Given the description of an element on the screen output the (x, y) to click on. 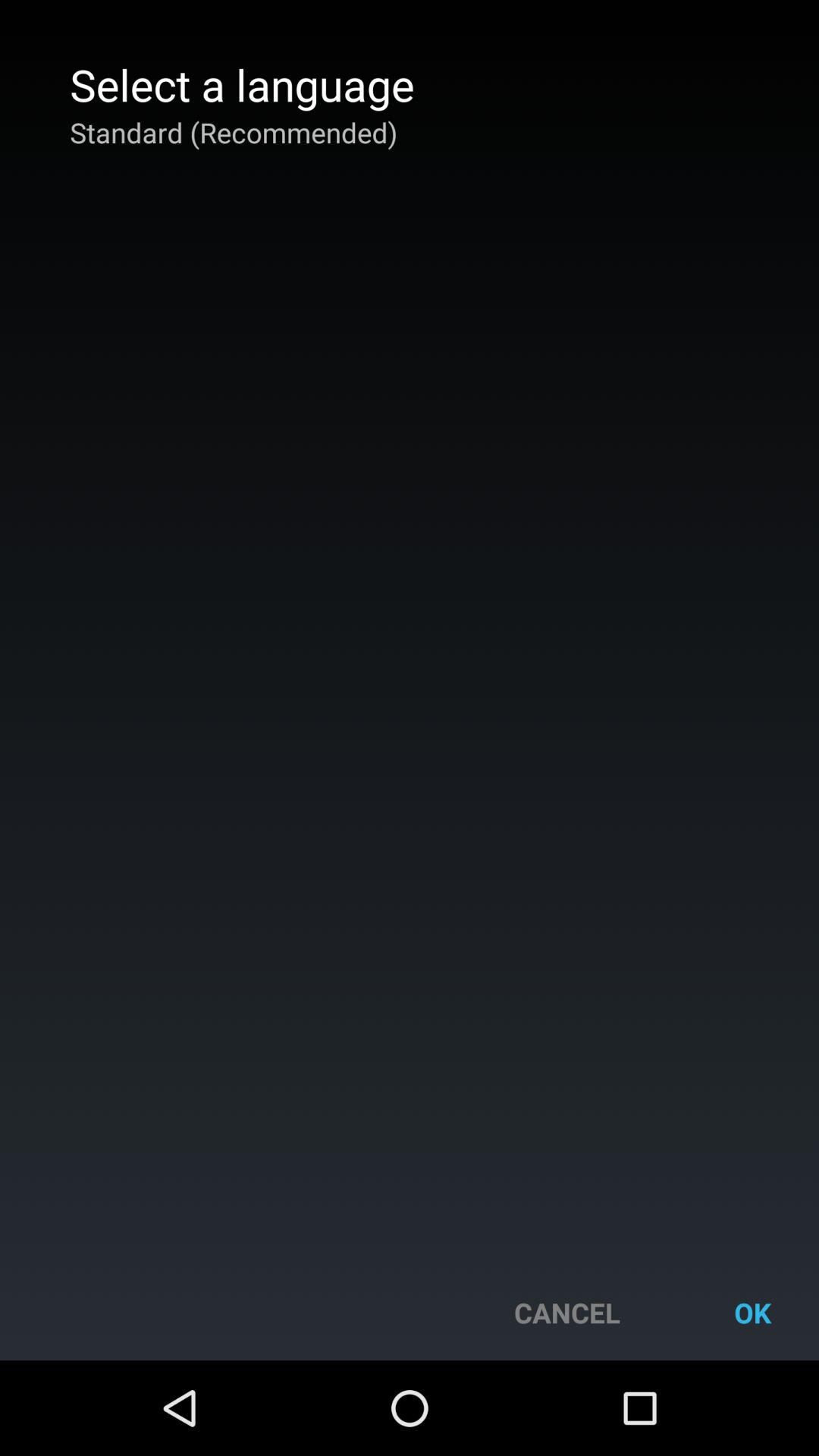
scroll until standard (recommended) (233, 132)
